Given the description of an element on the screen output the (x, y) to click on. 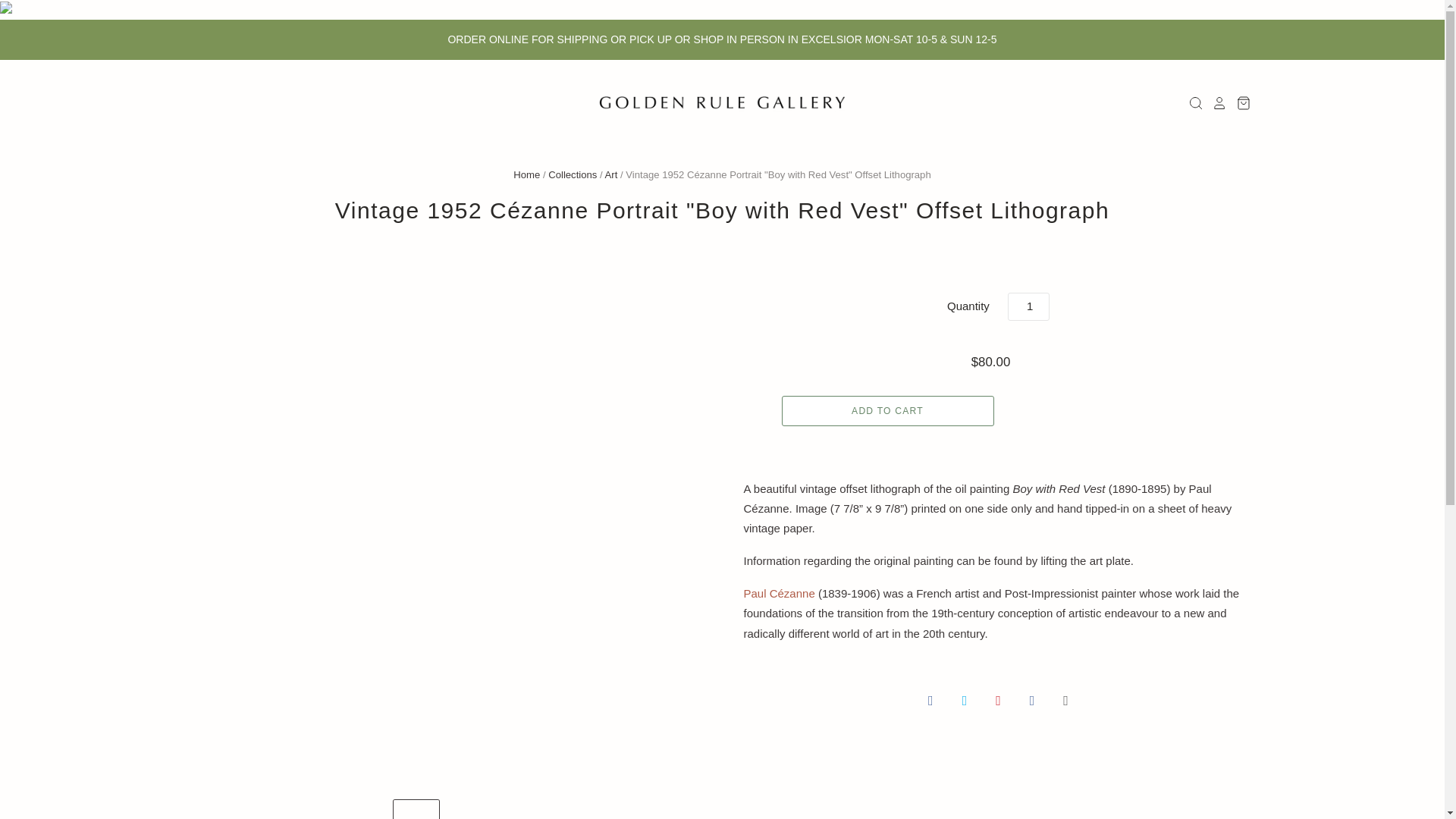
1 (1028, 306)
Add to cart (886, 410)
